Given the description of an element on the screen output the (x, y) to click on. 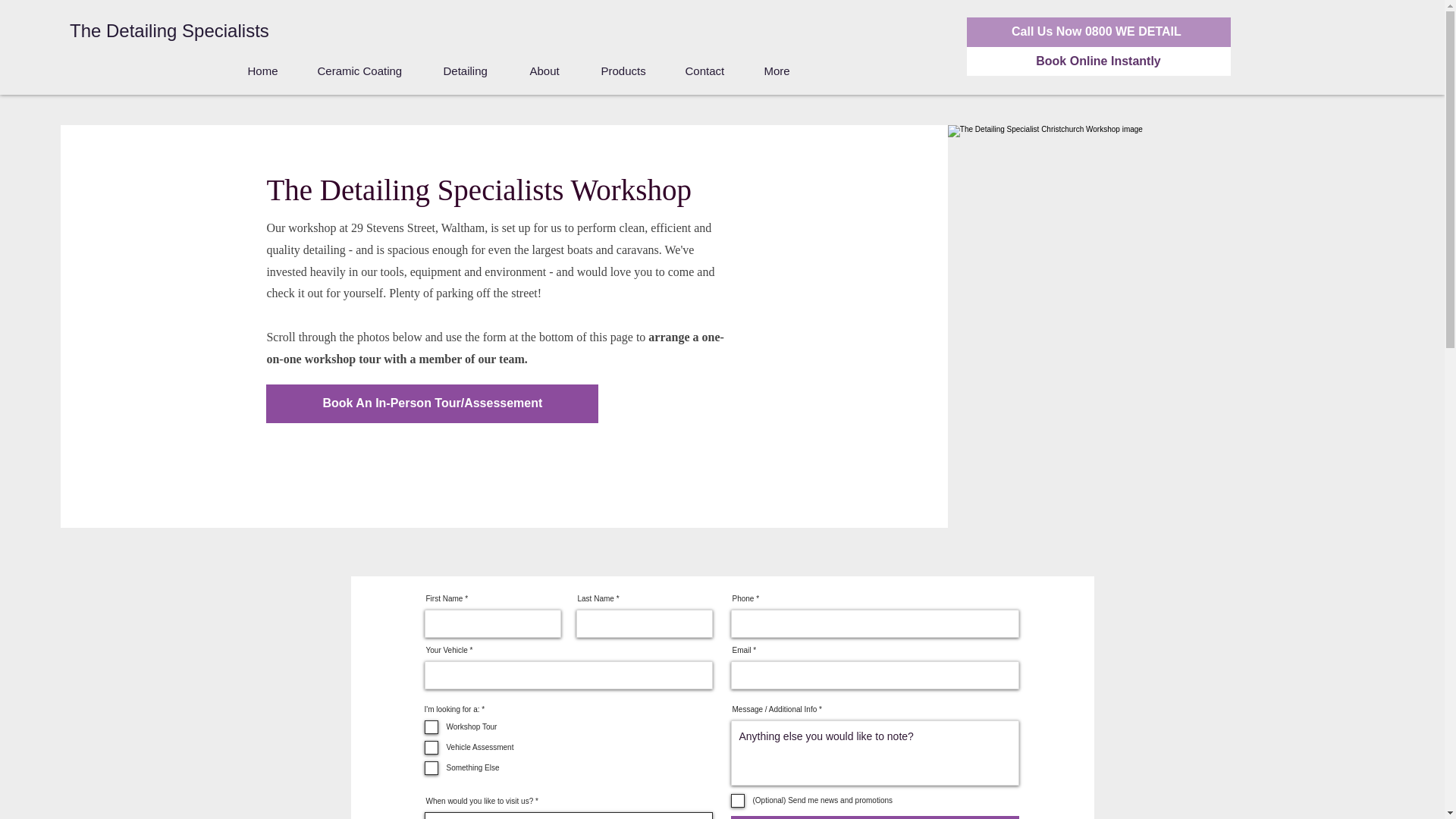
Home (270, 71)
Call Us Now 0800 WE DETAIL  (1098, 31)
Products (631, 71)
Send (874, 817)
The Detailing Specialists (175, 30)
Book Online Instantly (1097, 60)
Contact (712, 71)
